Given the description of an element on the screen output the (x, y) to click on. 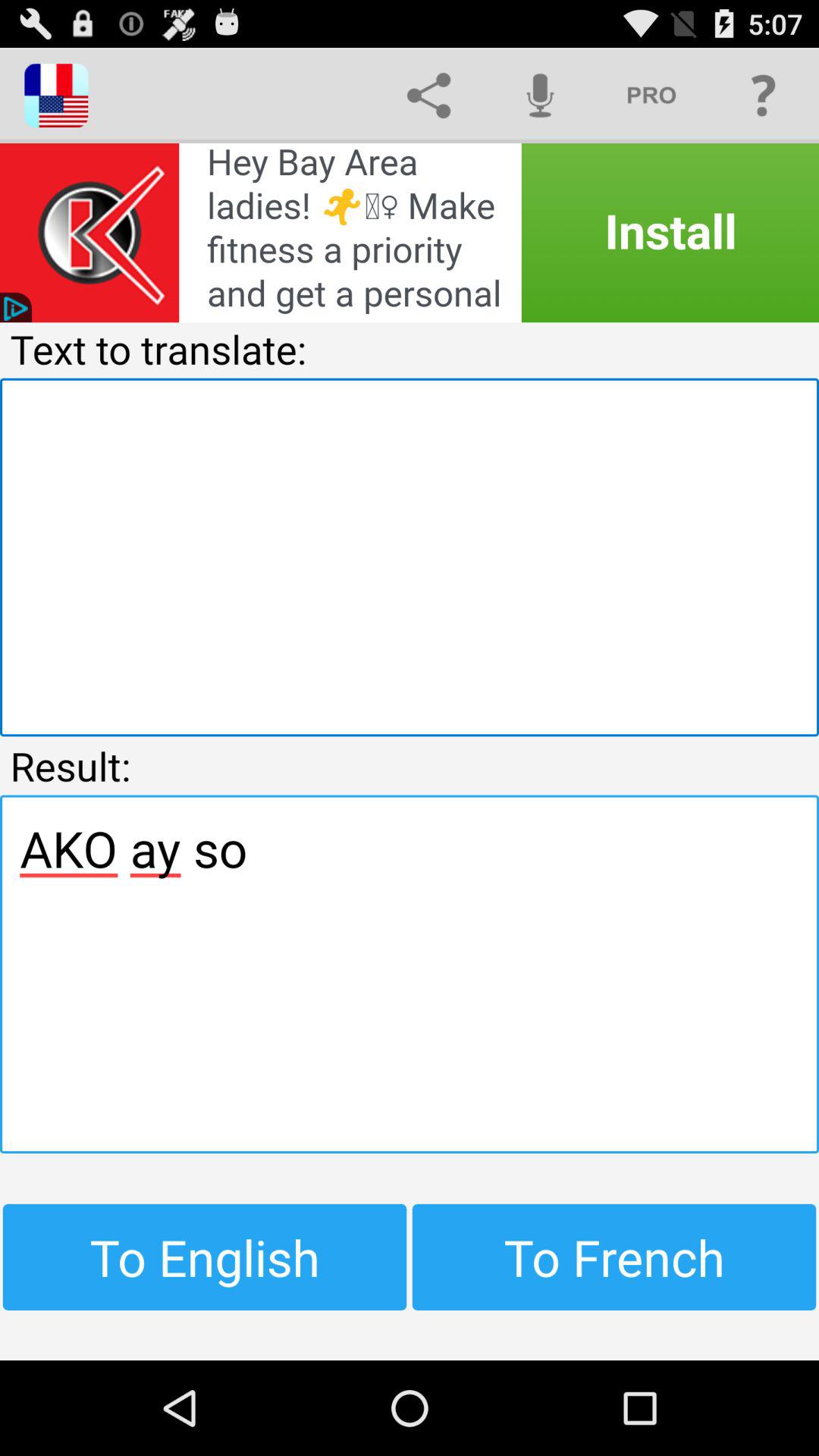
turn off item next to to french icon (204, 1257)
